Given the description of an element on the screen output the (x, y) to click on. 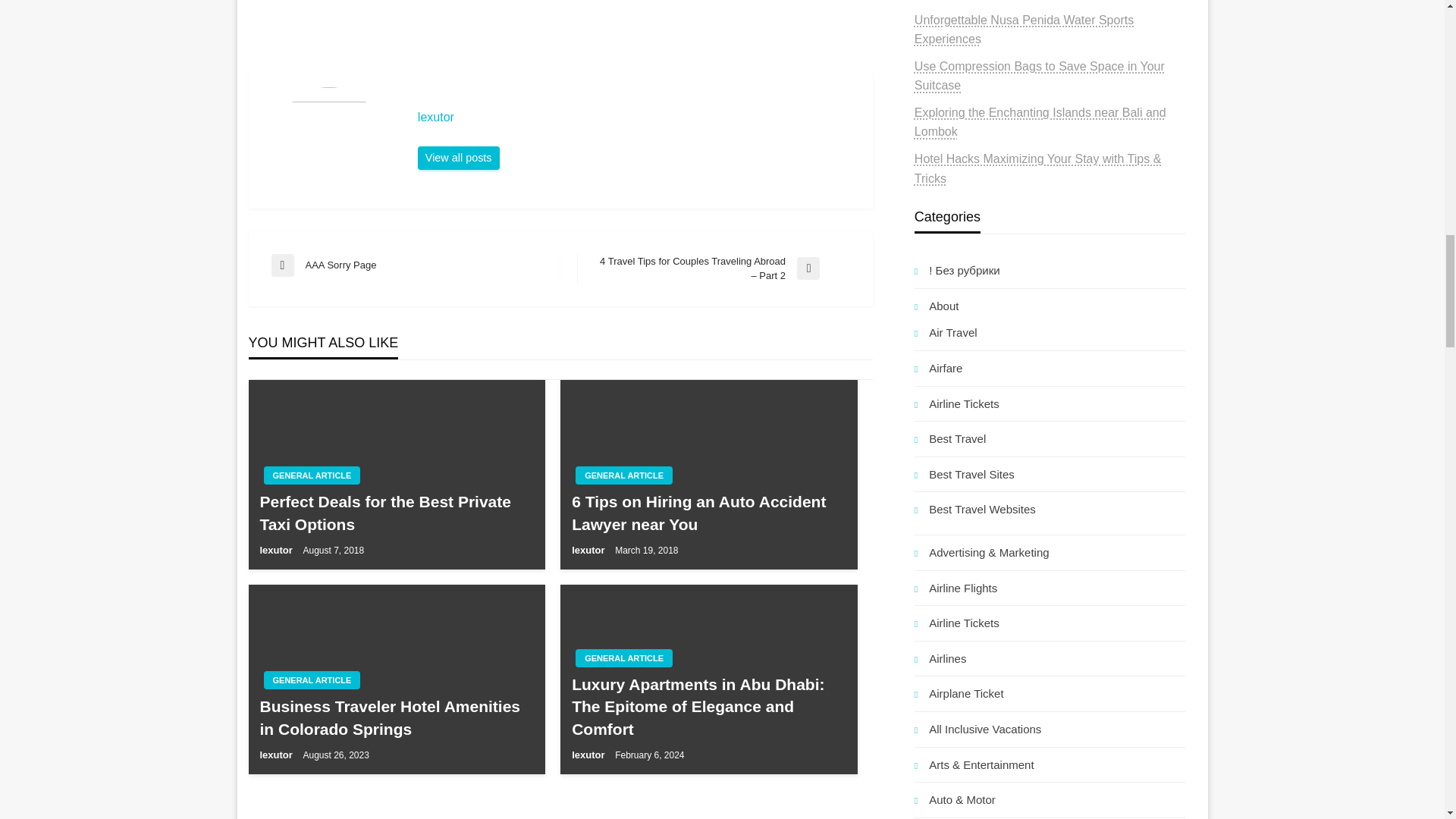
lexutor (637, 117)
lexutor (458, 158)
